Given the description of an element on the screen output the (x, y) to click on. 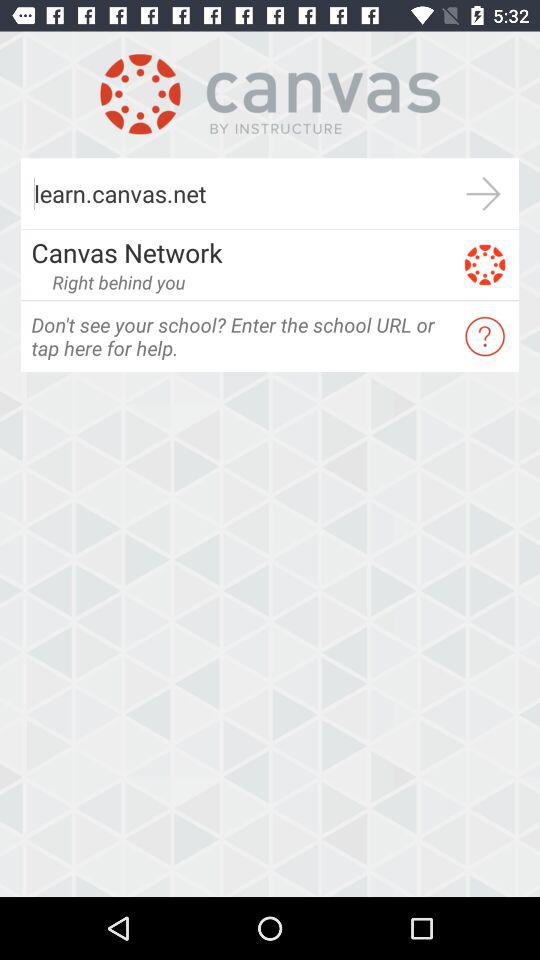
swipe to the right behind you (118, 282)
